Given the description of an element on the screen output the (x, y) to click on. 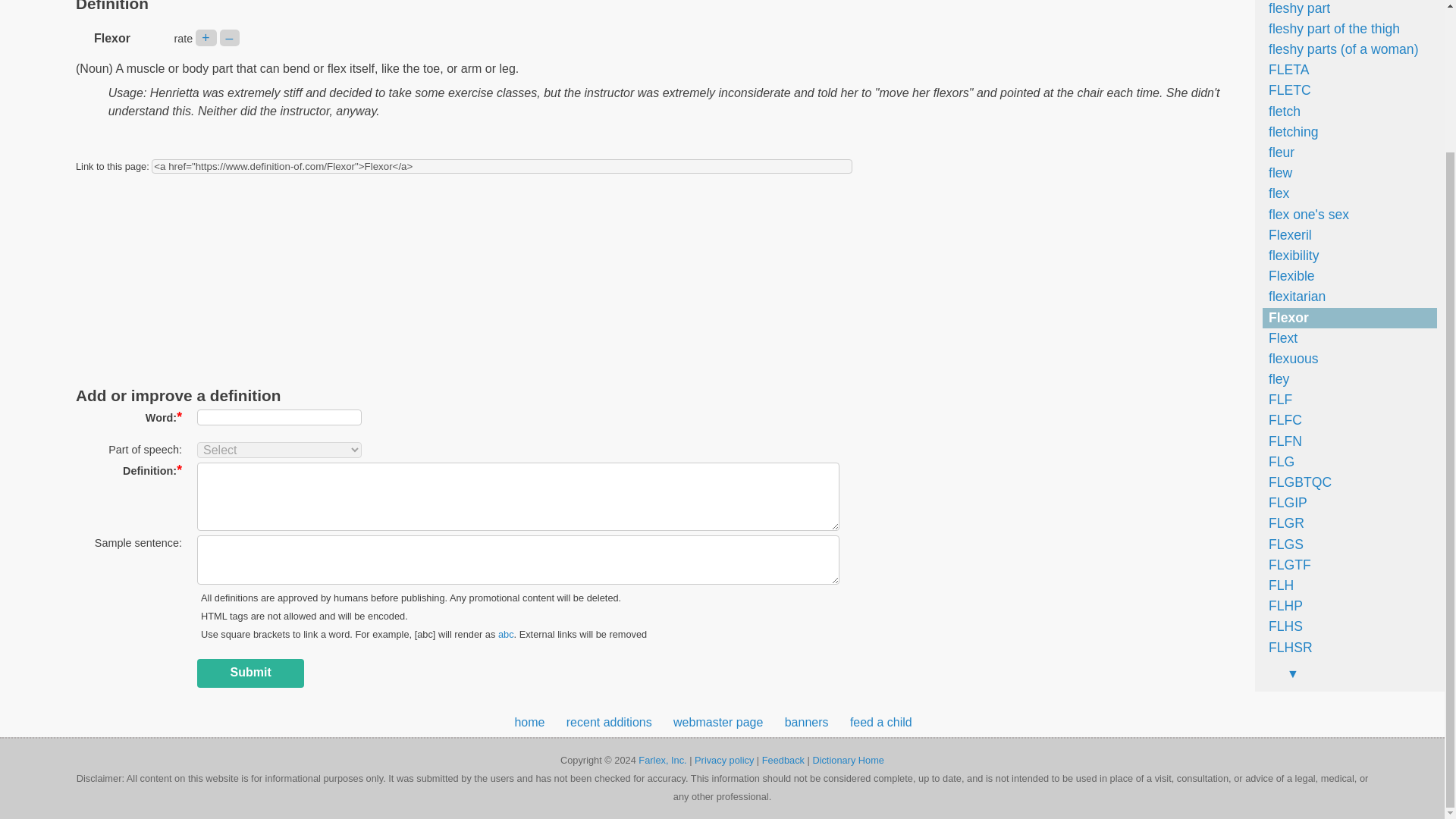
fletch (1281, 111)
flexuous (1290, 358)
flex (1275, 192)
fleur (1278, 151)
FLGS (1282, 544)
FLGBTQC (1297, 482)
FLGR (1283, 522)
FLG (1278, 461)
abc (505, 633)
fleshy part (1296, 7)
